Given the description of an element on the screen output the (x, y) to click on. 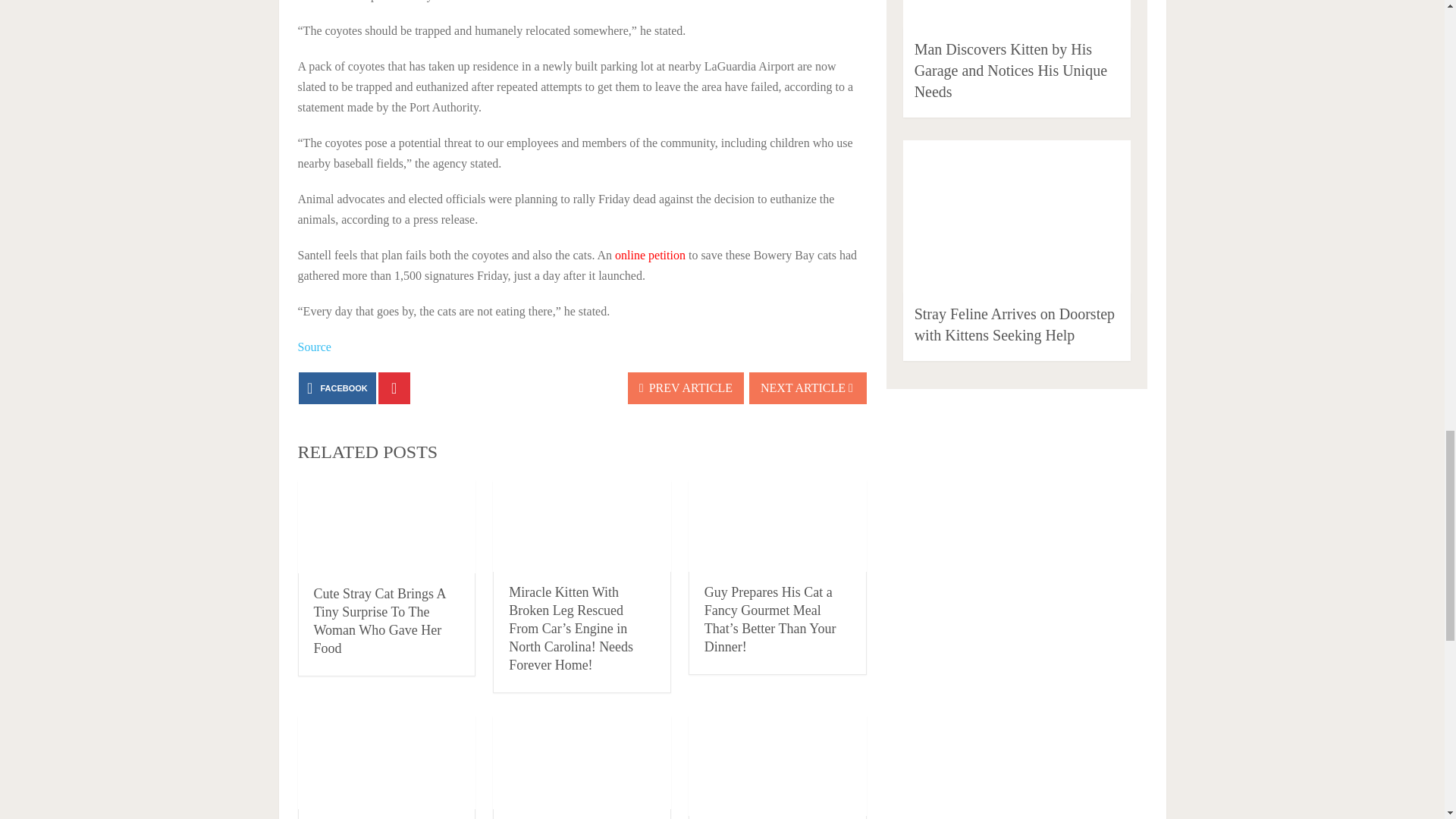
NEXT ARTICLE (807, 388)
Source (313, 346)
FACEBOOK (336, 388)
PREV ARTICLE (685, 388)
online petition (649, 254)
